Given the description of an element on the screen output the (x, y) to click on. 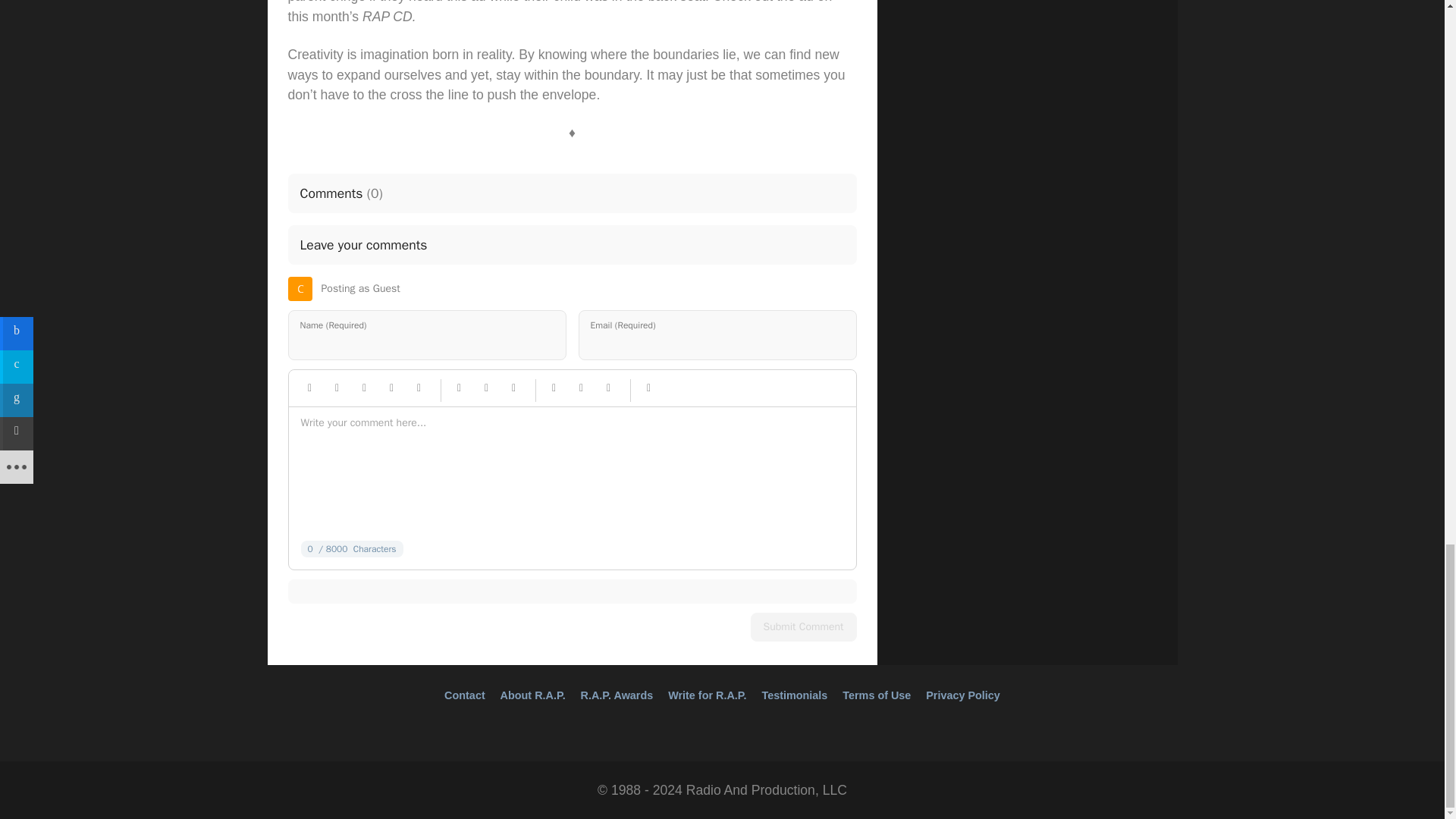
Video (513, 388)
Underline (363, 388)
Bullet (607, 388)
Italic (336, 388)
Bullet List (553, 388)
Picture (486, 388)
Bold (308, 388)
Quote (390, 388)
Submit Comment (804, 626)
Code (649, 388)
